Given the description of an element on the screen output the (x, y) to click on. 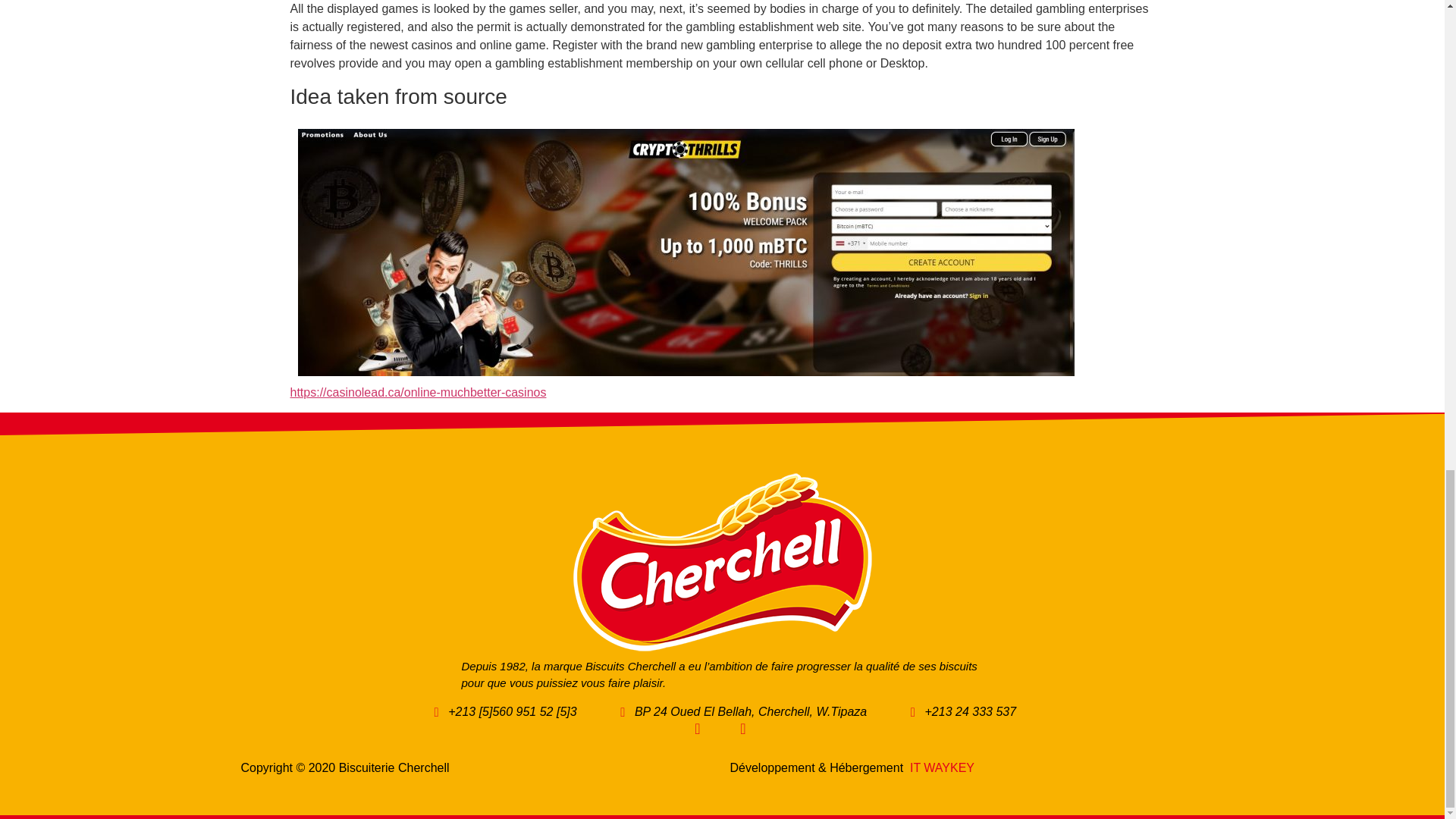
IT WAYKEY (942, 767)
